Given the description of an element on the screen output the (x, y) to click on. 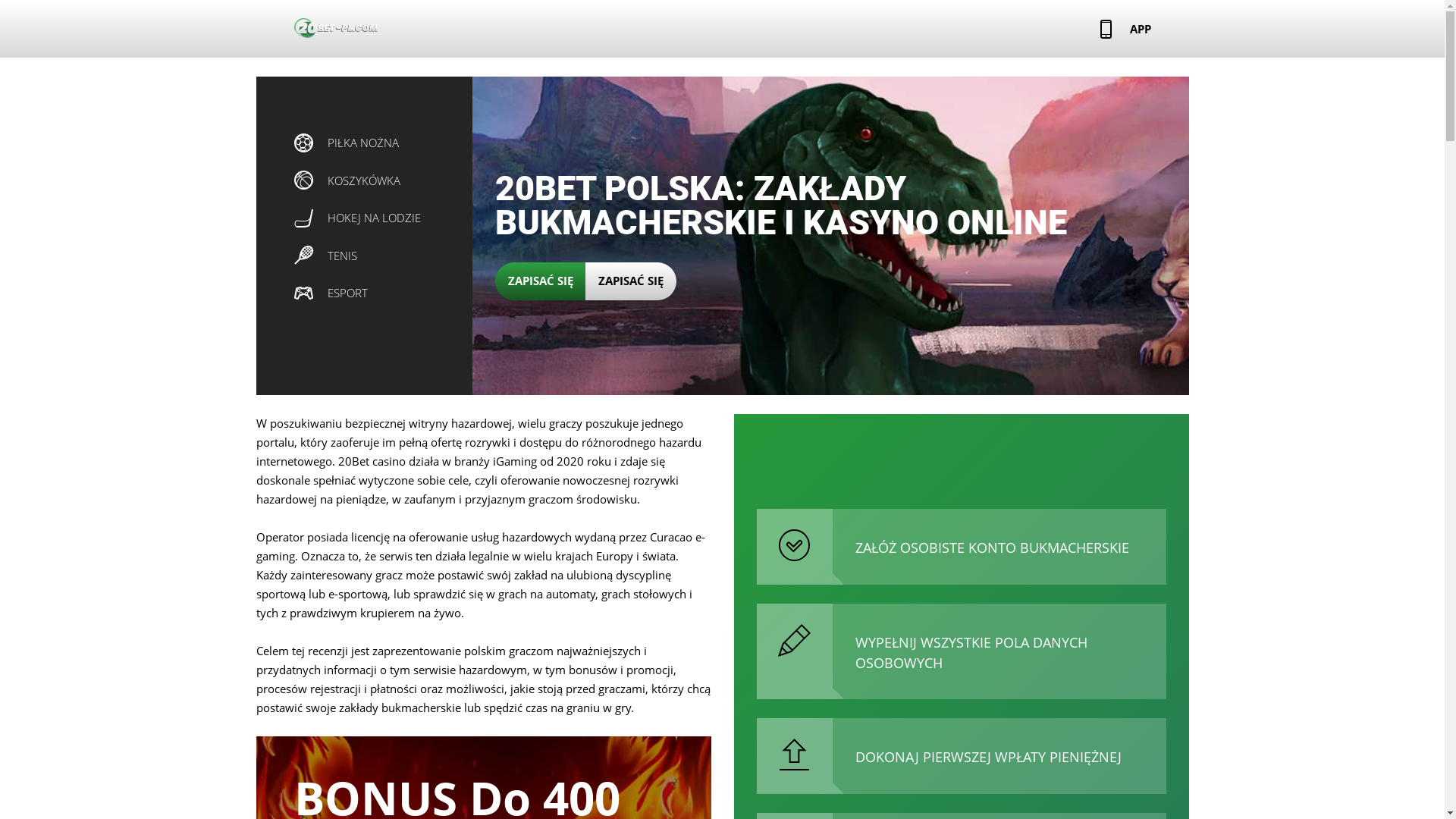
konto bukmacherskie Element type: hover (794, 545)
TENIS Element type: text (325, 253)
pola danych osobowych Element type: hover (794, 640)
ESPORT Element type: text (330, 290)
Mobilna aplikacja Element type: hover (1104, 28)
Tenis Element type: hover (303, 254)
APP Element type: text (1124, 27)
Esport Element type: hover (303, 292)
HOKEJ NA LODZIE Element type: text (357, 215)
20Bet PL Element type: hover (336, 27)
Hokej na lodzie Element type: hover (303, 217)
